Given the description of an element on the screen output the (x, y) to click on. 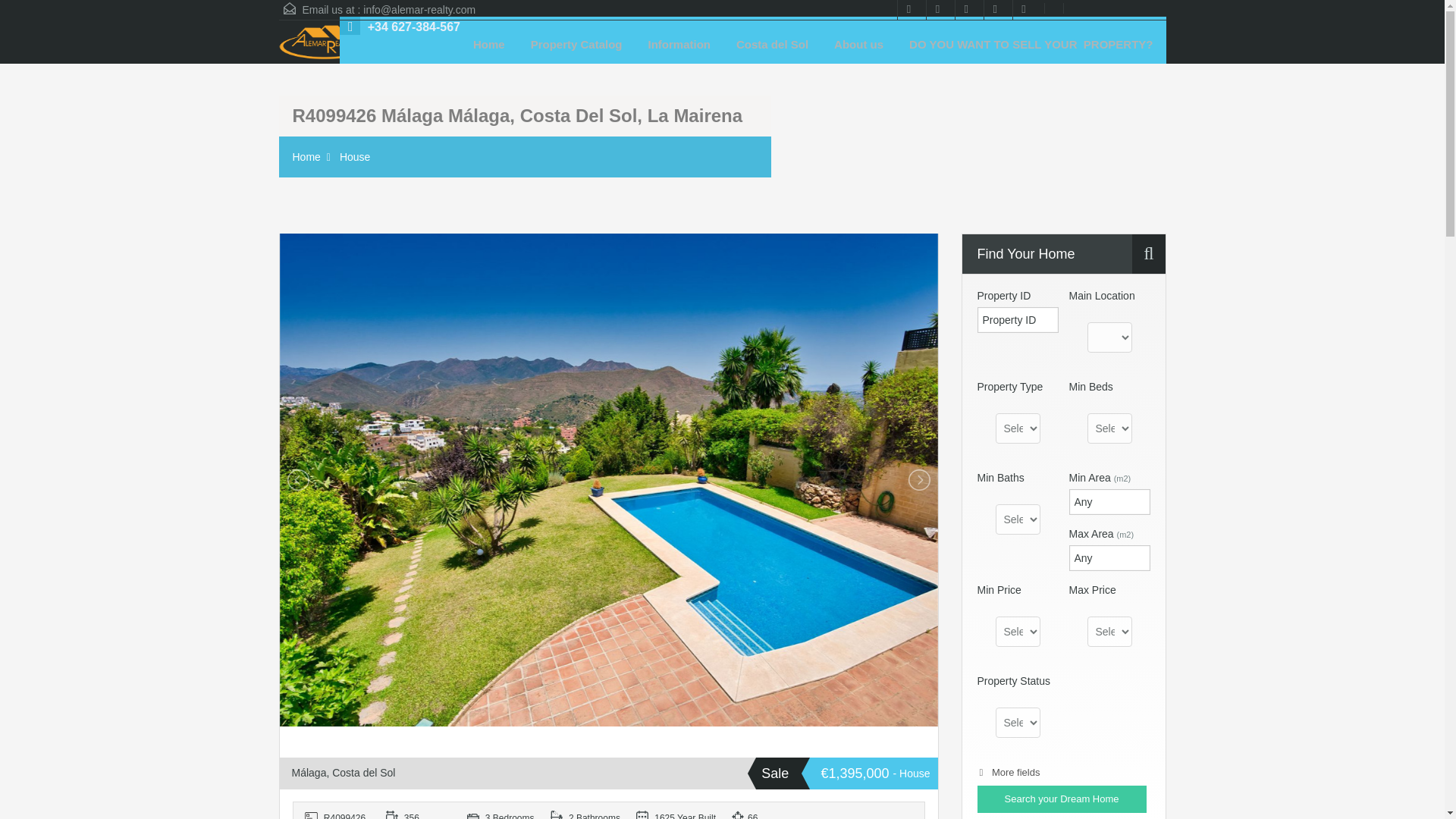
Real estate in Spain, purchase, sale, rent. (324, 43)
Lot Size (766, 810)
Information (678, 44)
Property ID (339, 810)
Area Size (419, 810)
Add to favorite (293, 746)
Property Catalog (576, 44)
Search your Dream Home (1060, 799)
English (1050, 8)
Costa del Sol (772, 44)
